Given the description of an element on the screen output the (x, y) to click on. 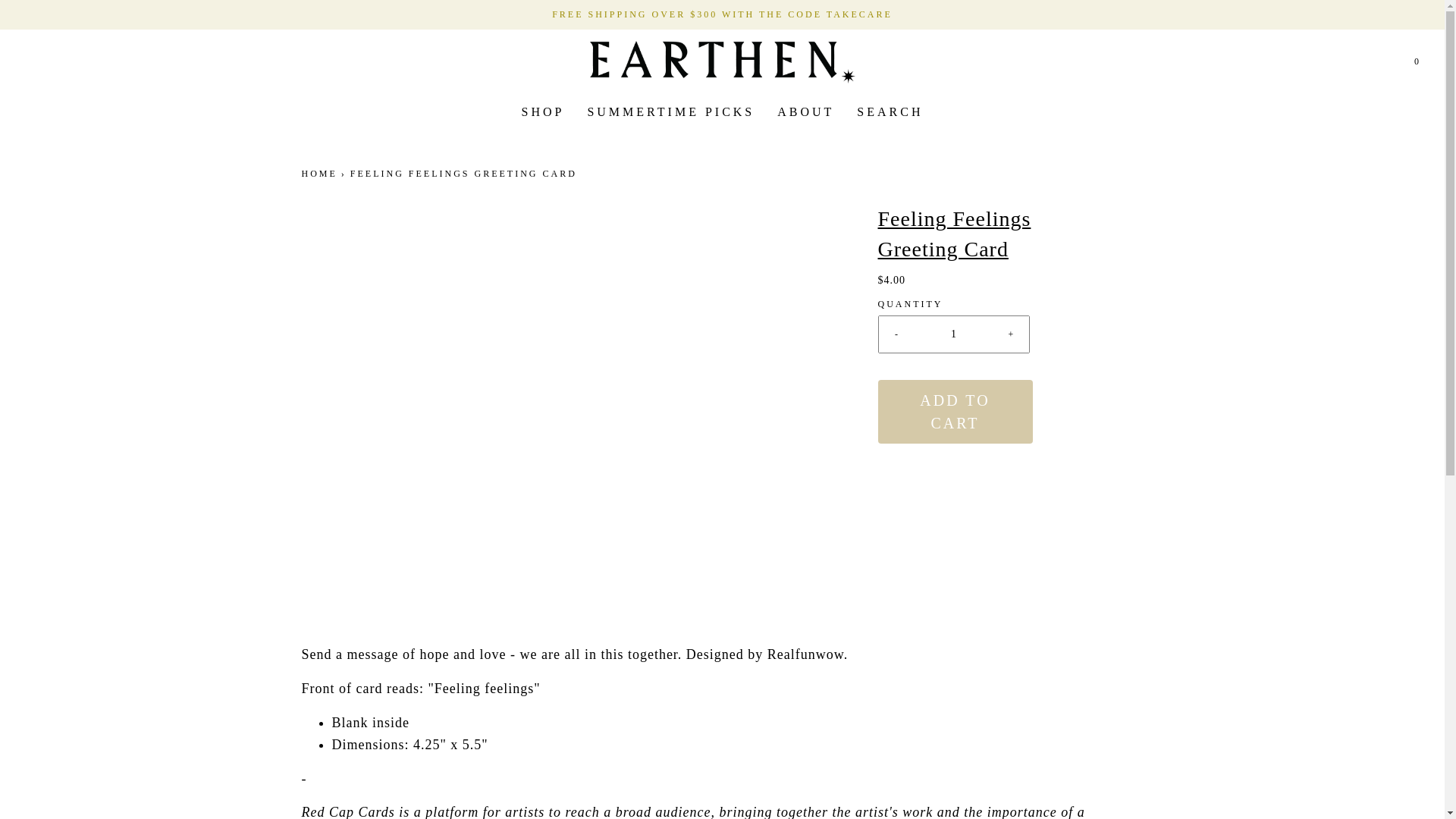
Back to the frontpage (320, 173)
1 (954, 334)
SHOP (542, 112)
